Given the description of an element on the screen output the (x, y) to click on. 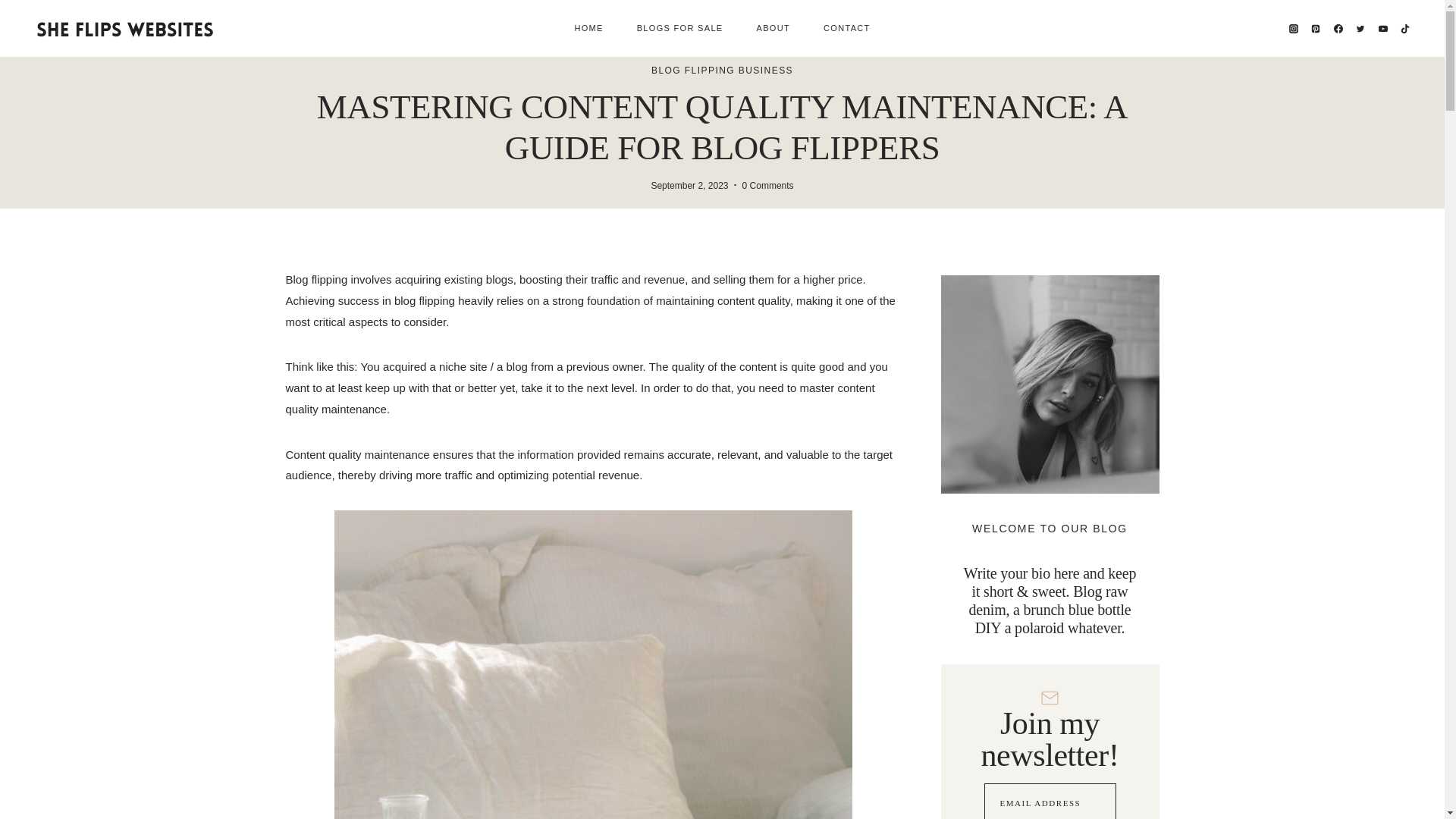
ABOUT (773, 28)
0 Comments (767, 185)
0 Comments (767, 185)
HOME (588, 28)
BLOG FLIPPING BUSINESS (721, 70)
BLOGS FOR SALE (679, 28)
CONTACT (846, 28)
